Given the description of an element on the screen output the (x, y) to click on. 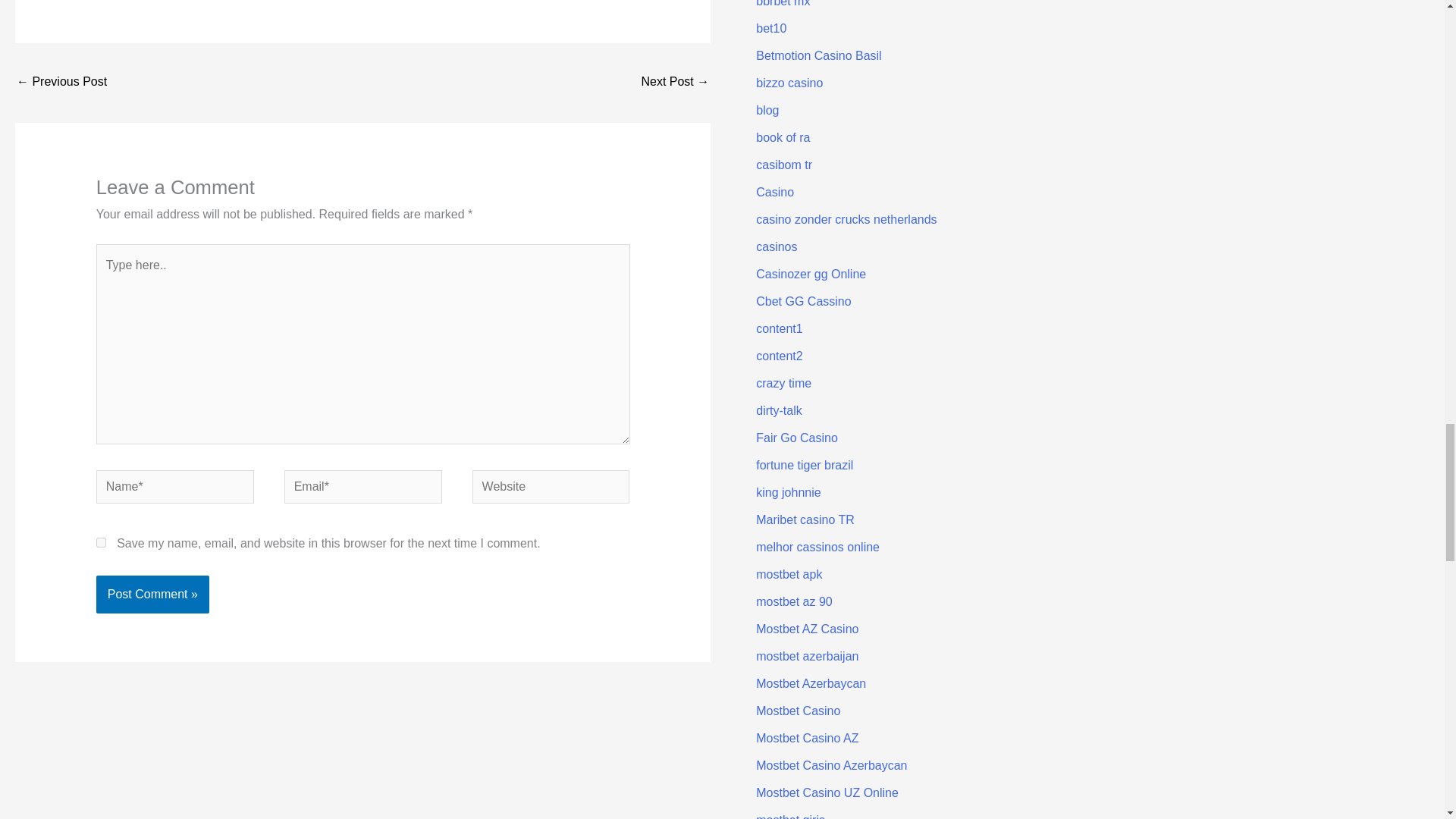
Finest Online Casinos That Approve Bitcoin Deposits (61, 82)
yes (101, 542)
